Given the description of an element on the screen output the (x, y) to click on. 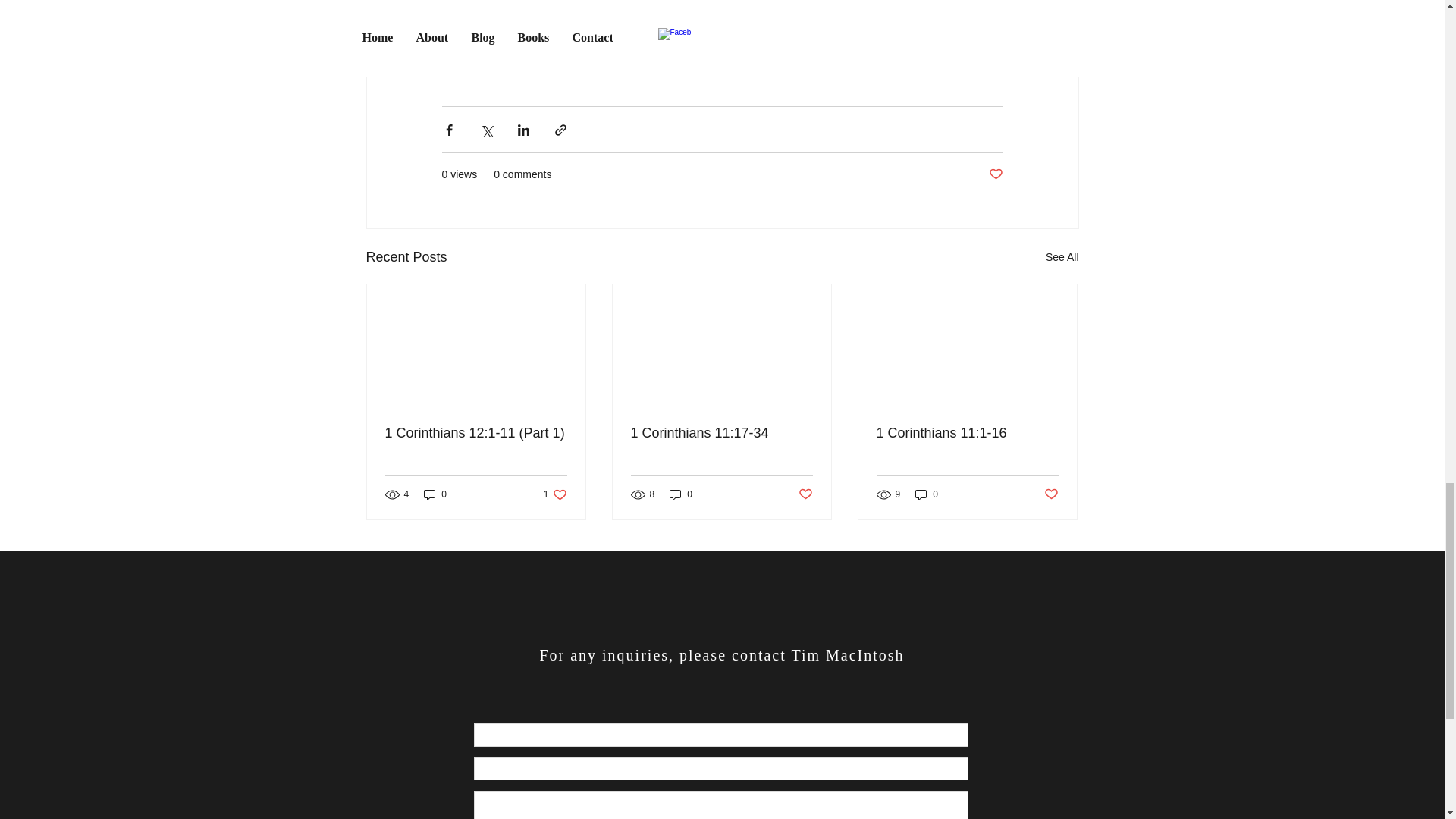
0 (435, 494)
Post not marked as liked (1050, 494)
Post not marked as liked (995, 174)
0 (681, 494)
See All (1061, 257)
0 (926, 494)
Post not marked as liked (804, 494)
1 Corinthians 11:17-34 (555, 494)
1 Corinthians 11:1-16 (721, 433)
